Given the description of an element on the screen output the (x, y) to click on. 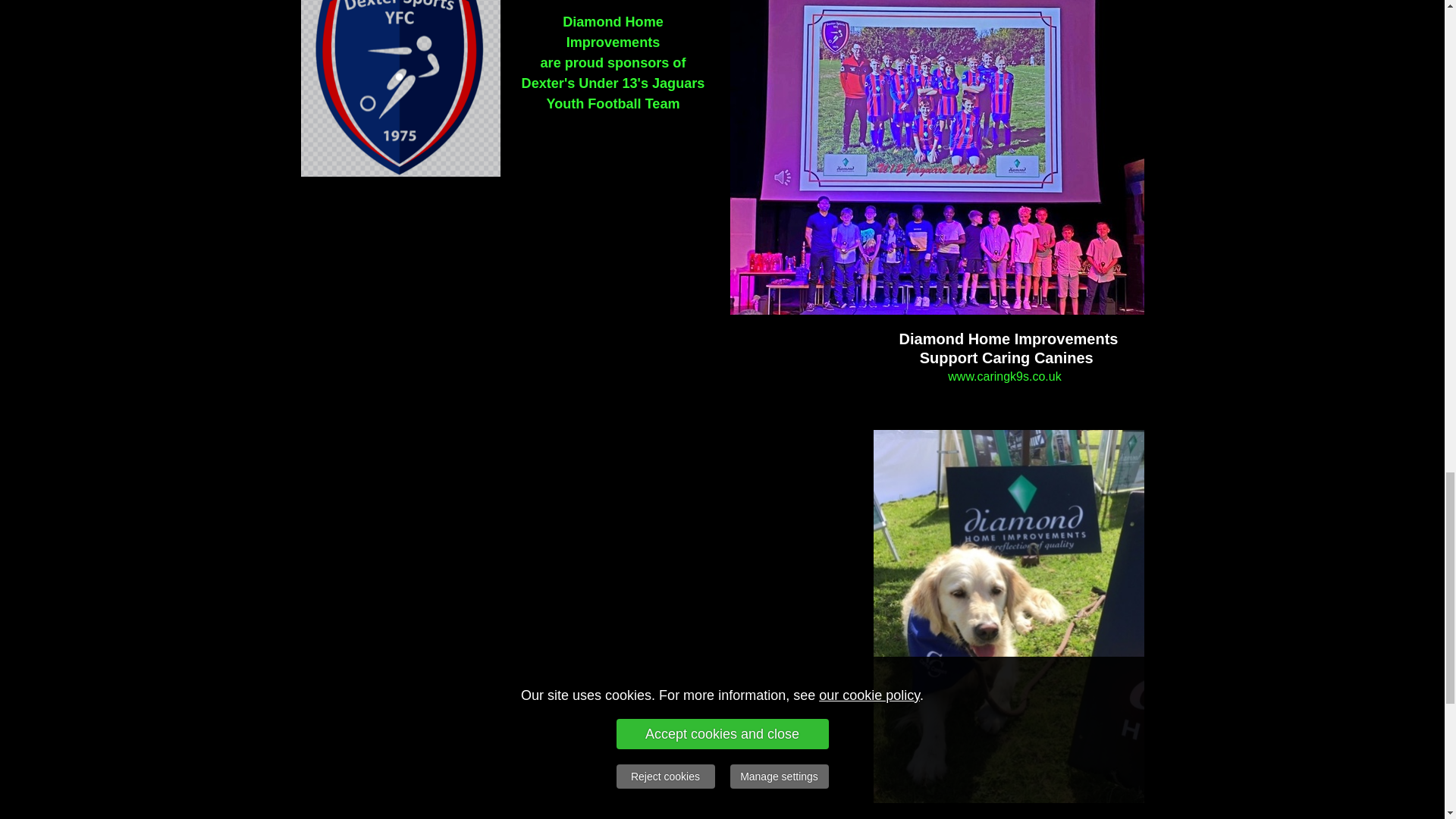
www.caringk9s.co.uk  (1005, 376)
Dexter's Under 13's Jaguars (612, 83)
Youth Football Team (612, 103)
